Given the description of an element on the screen output the (x, y) to click on. 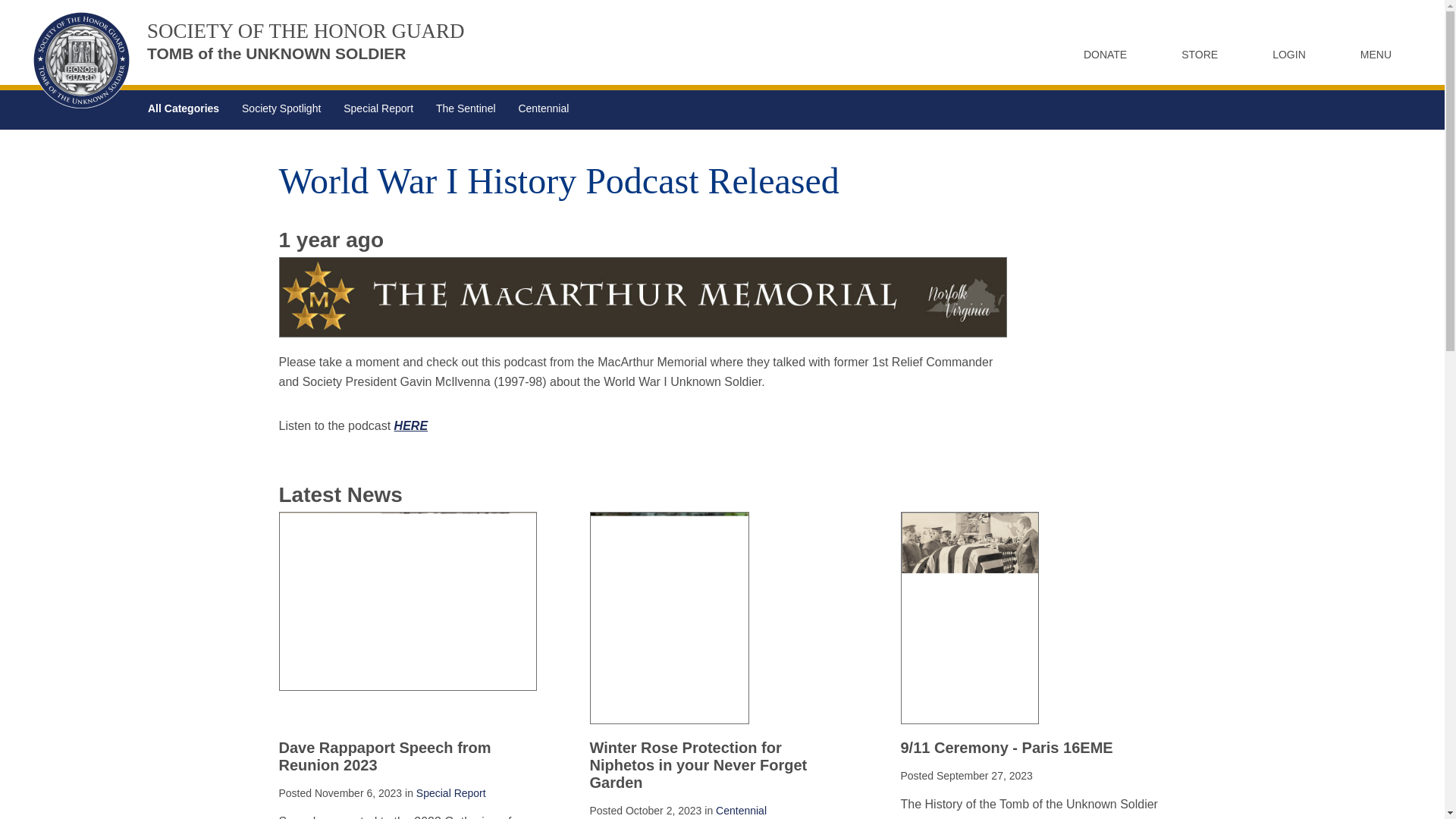
LOGIN (248, 41)
Centennial (1280, 53)
MENU (543, 108)
All Categories (1367, 53)
Centennial (183, 108)
Special Report (741, 810)
Society Spotlight (378, 108)
DONATE (280, 108)
STORE (1097, 53)
Special Report (1192, 53)
The Sentinel (451, 793)
Dave Rappaport Speech from Reunion 2023 (465, 108)
HERE (385, 756)
